Given the description of an element on the screen output the (x, y) to click on. 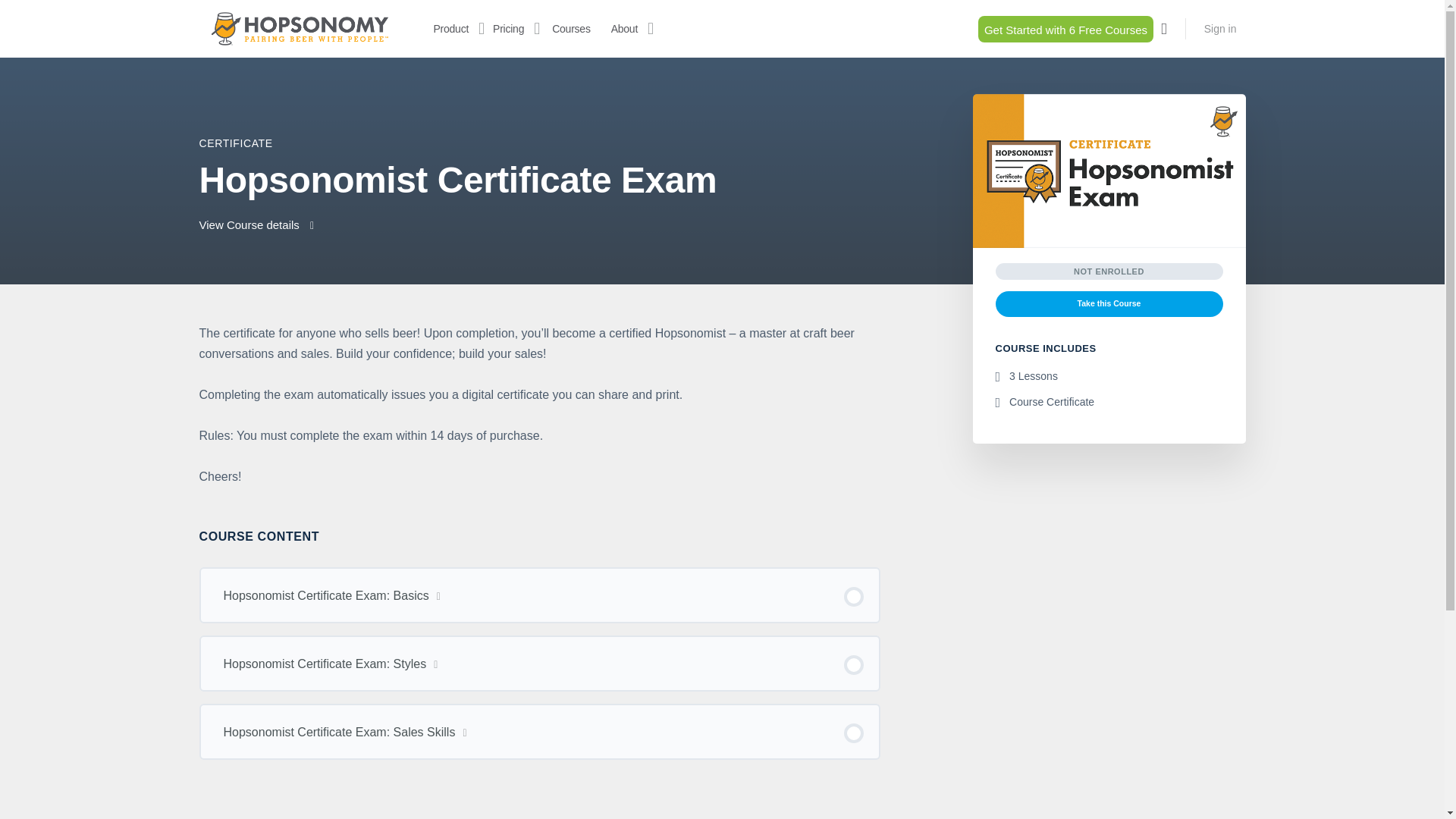
Certificate (235, 143)
Sign in (1220, 28)
Get Started with 6 Free Courses (1065, 28)
Courses (570, 28)
Product (450, 28)
Log In (528, 462)
Pricing (508, 28)
About (624, 28)
